Given the description of an element on the screen output the (x, y) to click on. 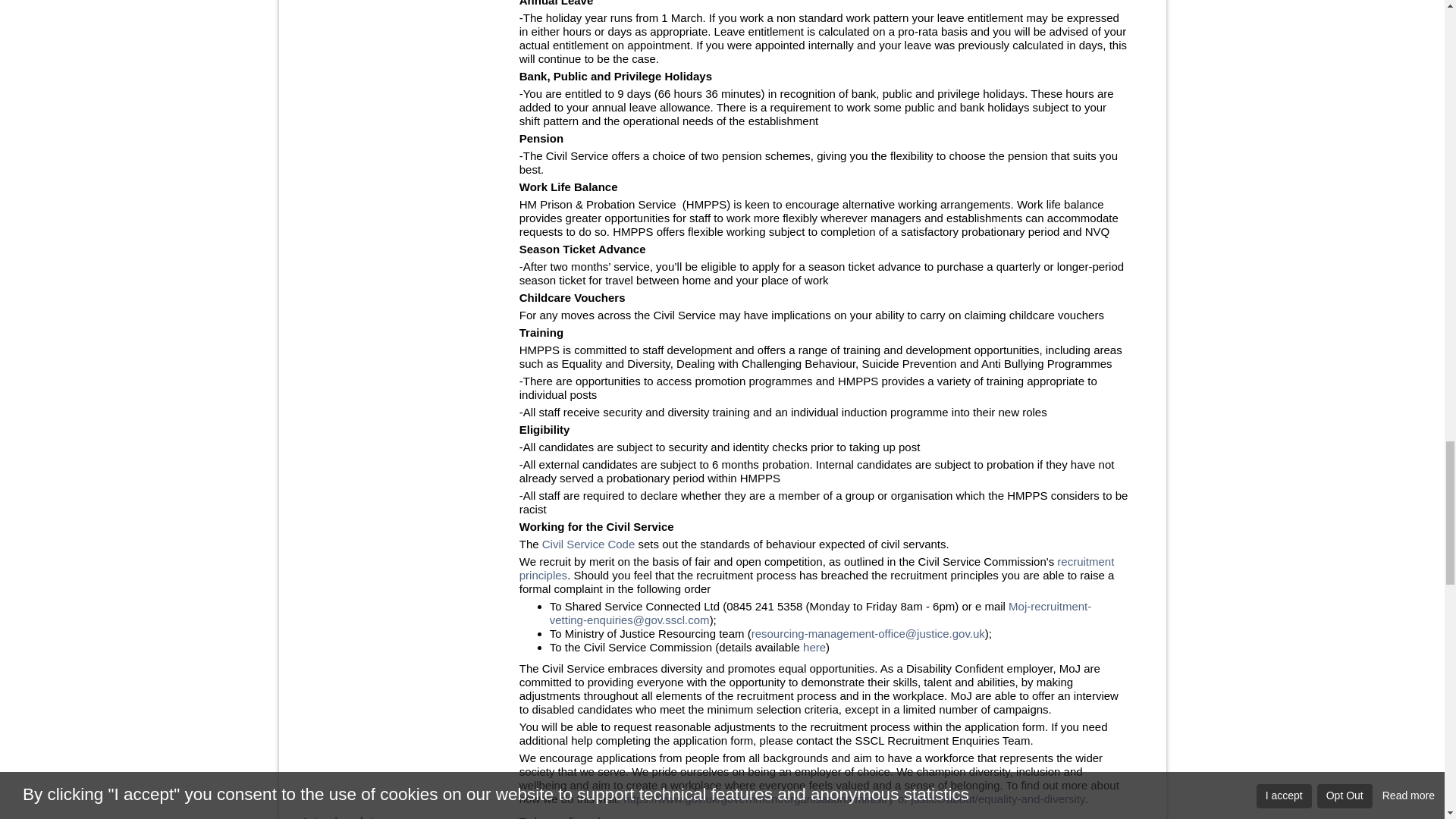
Civil Service Code (587, 543)
recruitment principles (817, 568)
here (814, 646)
